Given the description of an element on the screen output the (x, y) to click on. 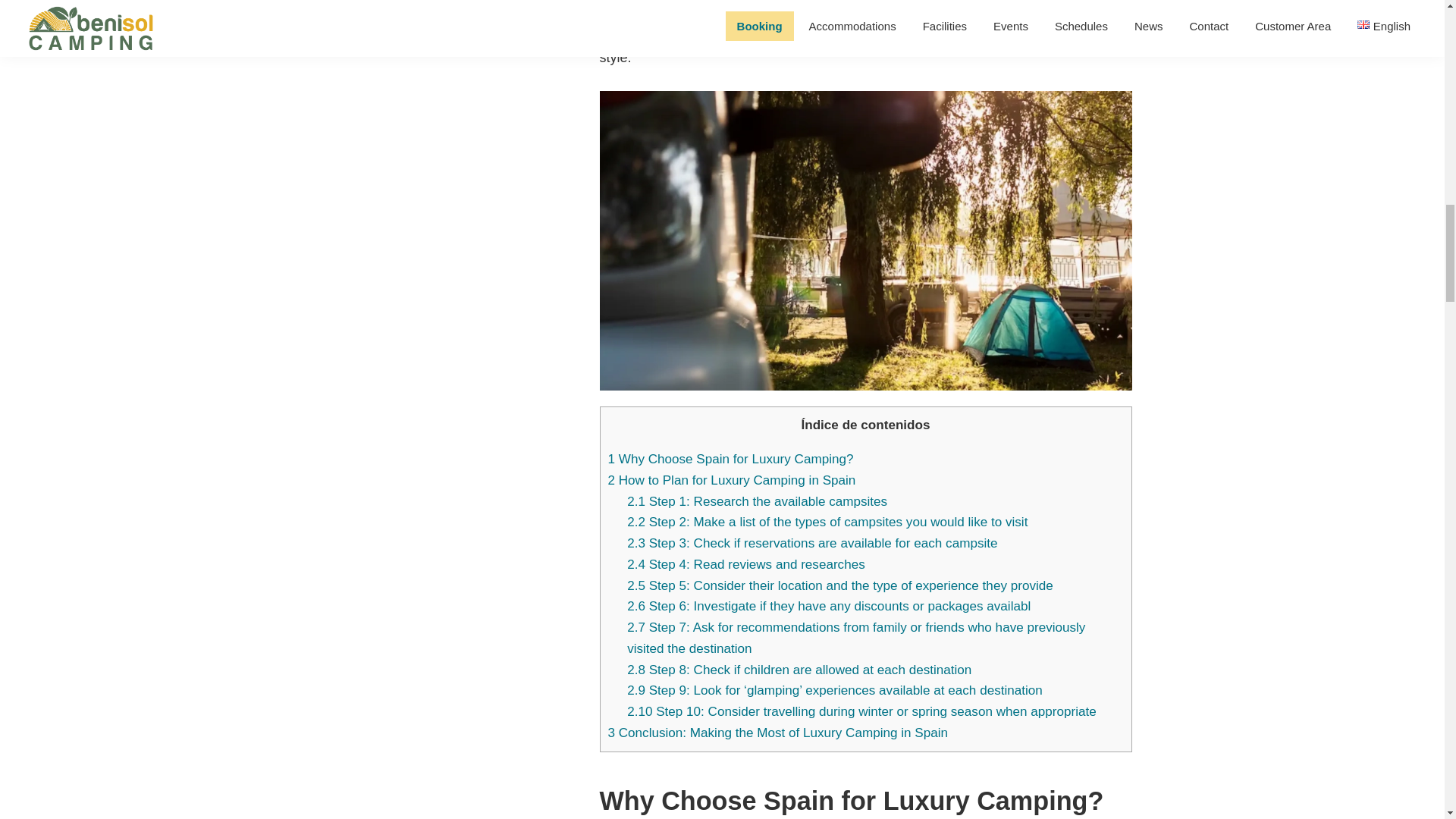
2.4 Step 4: Read reviews and researches (745, 564)
2 How to Plan for Luxury Camping in Spain (732, 480)
1 Why Choose Spain for Luxury Camping? (730, 459)
3 Conclusion: Making the Most of Luxury Camping in Spain (777, 732)
2.1 Step 1: Research the available campsites (756, 501)
